Given the description of an element on the screen output the (x, y) to click on. 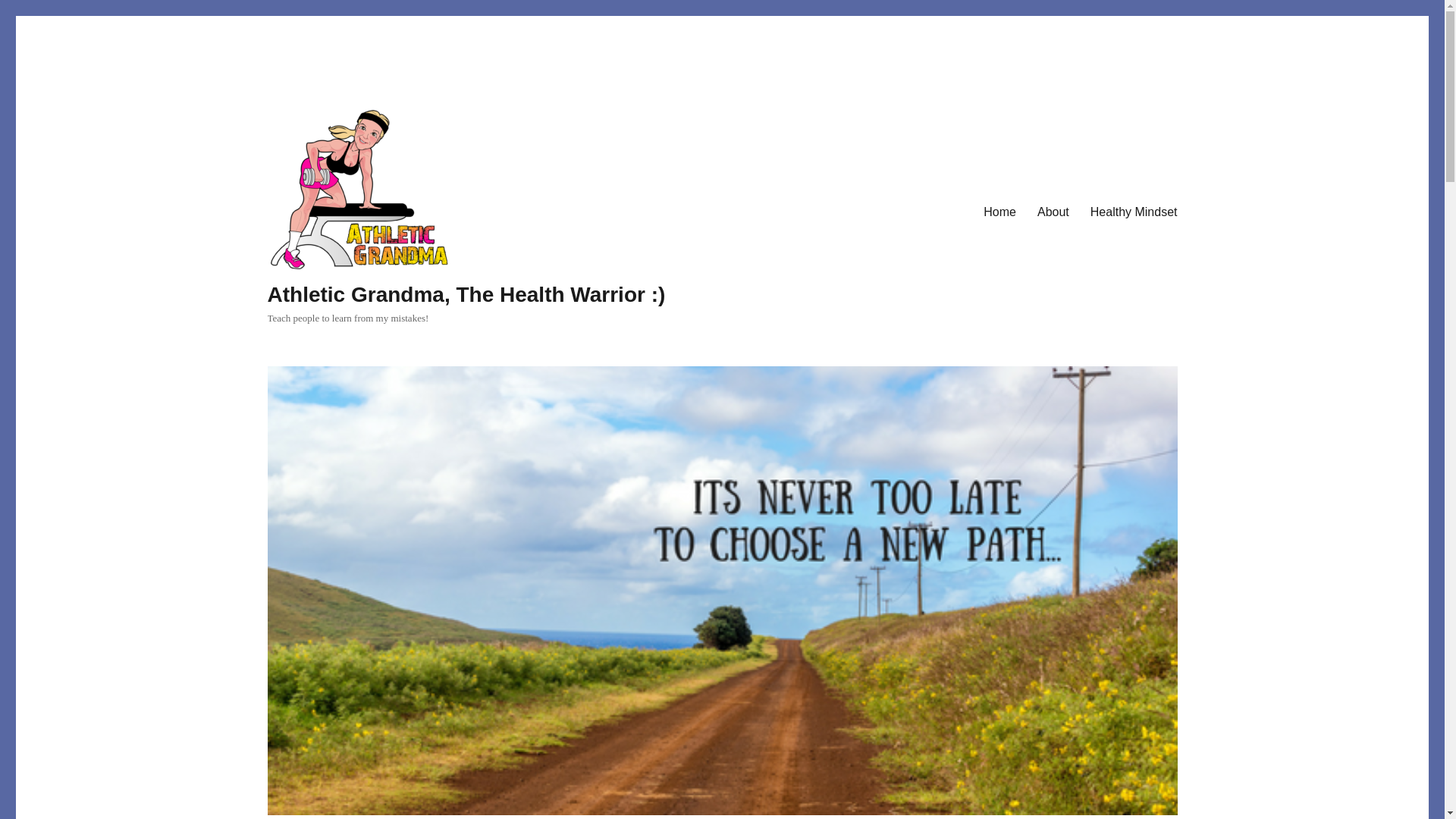
Healthy Mindset (1134, 212)
Home (999, 212)
About (1053, 212)
